Given the description of an element on the screen output the (x, y) to click on. 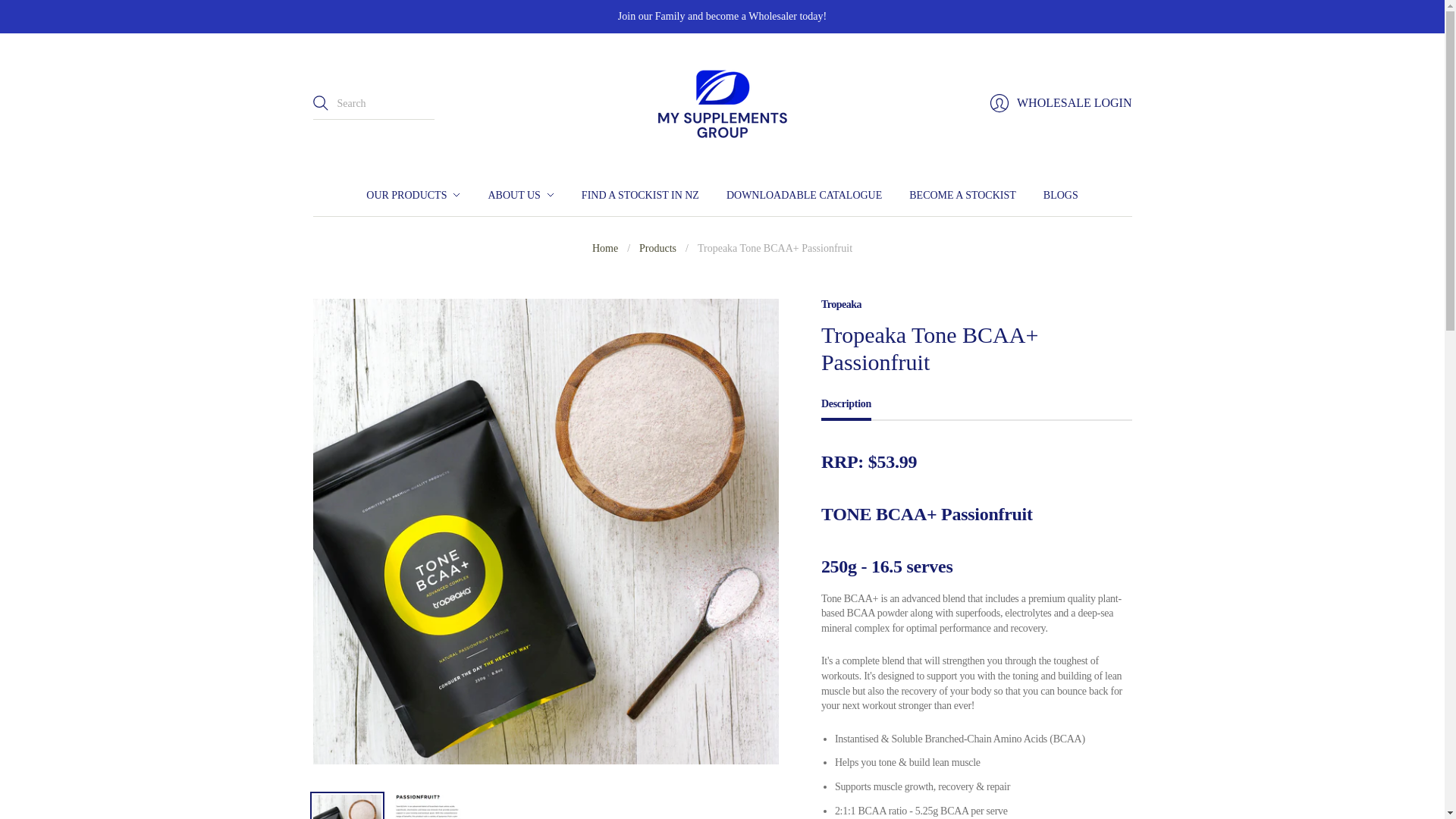
DOWNLOADABLE CATALOGUE (804, 194)
BLOGS (1060, 194)
ABOUT US (520, 194)
FIND A STOCKIST IN NZ (639, 194)
BECOME A STOCKIST (962, 194)
WHOLESALE LOGIN (1061, 102)
OUR PRODUCTS (413, 194)
